Given the description of an element on the screen output the (x, y) to click on. 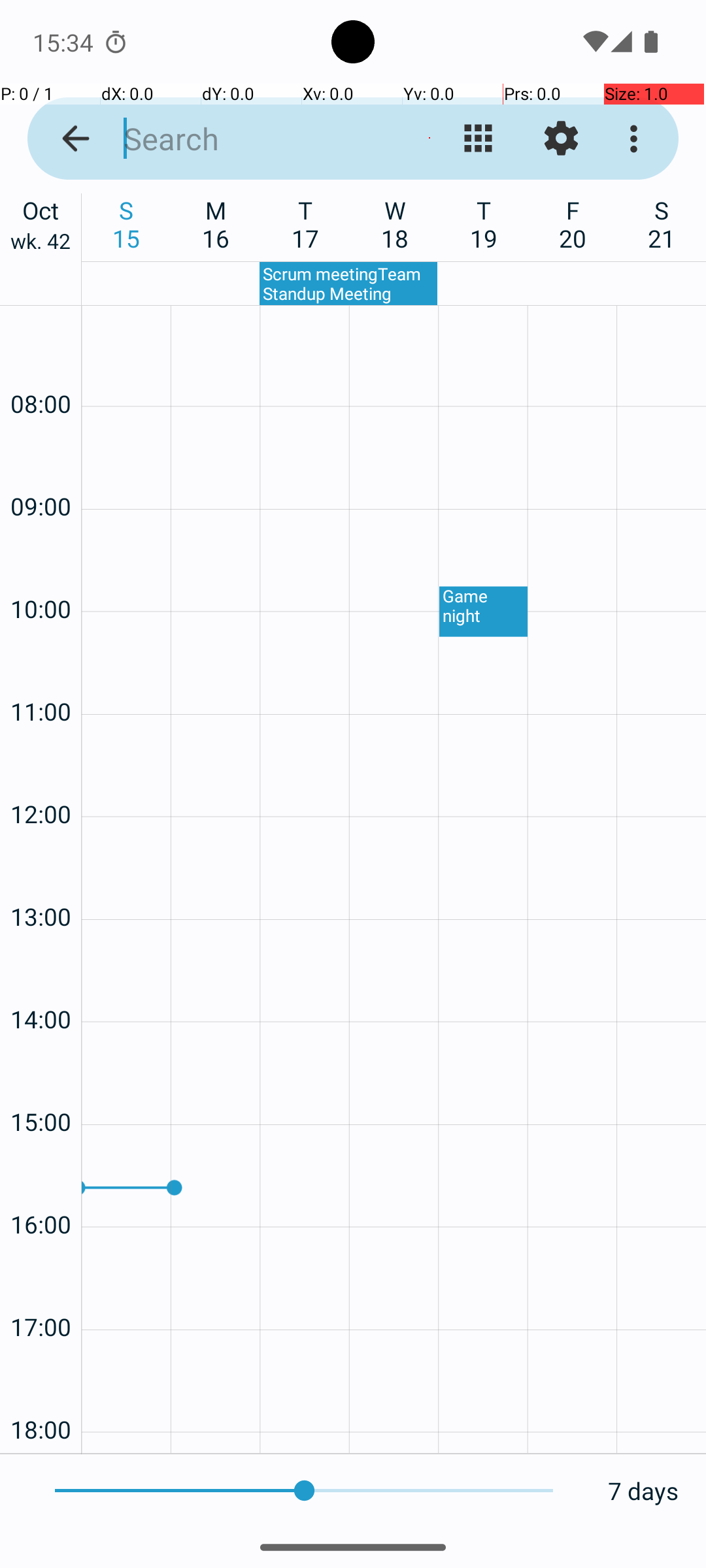
wk. 42 Element type: android.widget.TextView (40, 243)
M
16 Element type: android.widget.TextView (215, 223)
T
17 Element type: android.widget.TextView (305, 223)
W
18 Element type: android.widget.TextView (394, 223)
T
19 Element type: android.widget.TextView (483, 223)
F
20 Element type: android.widget.TextView (572, 223)
S
21 Element type: android.widget.TextView (661, 223)
Scrum meetingTeam Standup Meeting Element type: android.widget.TextView (348, 283)
Game night Element type: android.widget.TextView (483, 611)
